Given the description of an element on the screen output the (x, y) to click on. 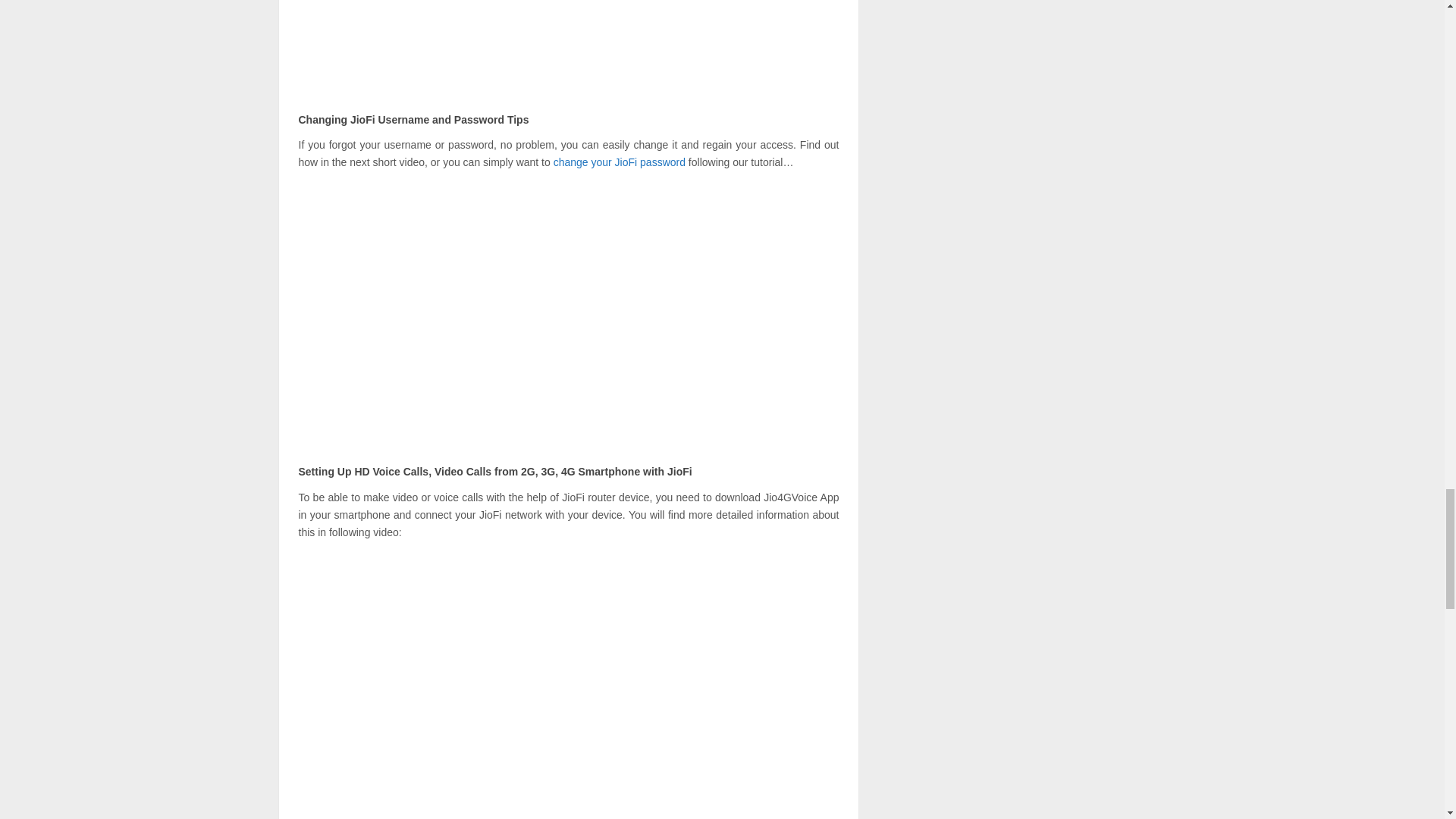
change your JioFi password (619, 162)
